Given the description of an element on the screen output the (x, y) to click on. 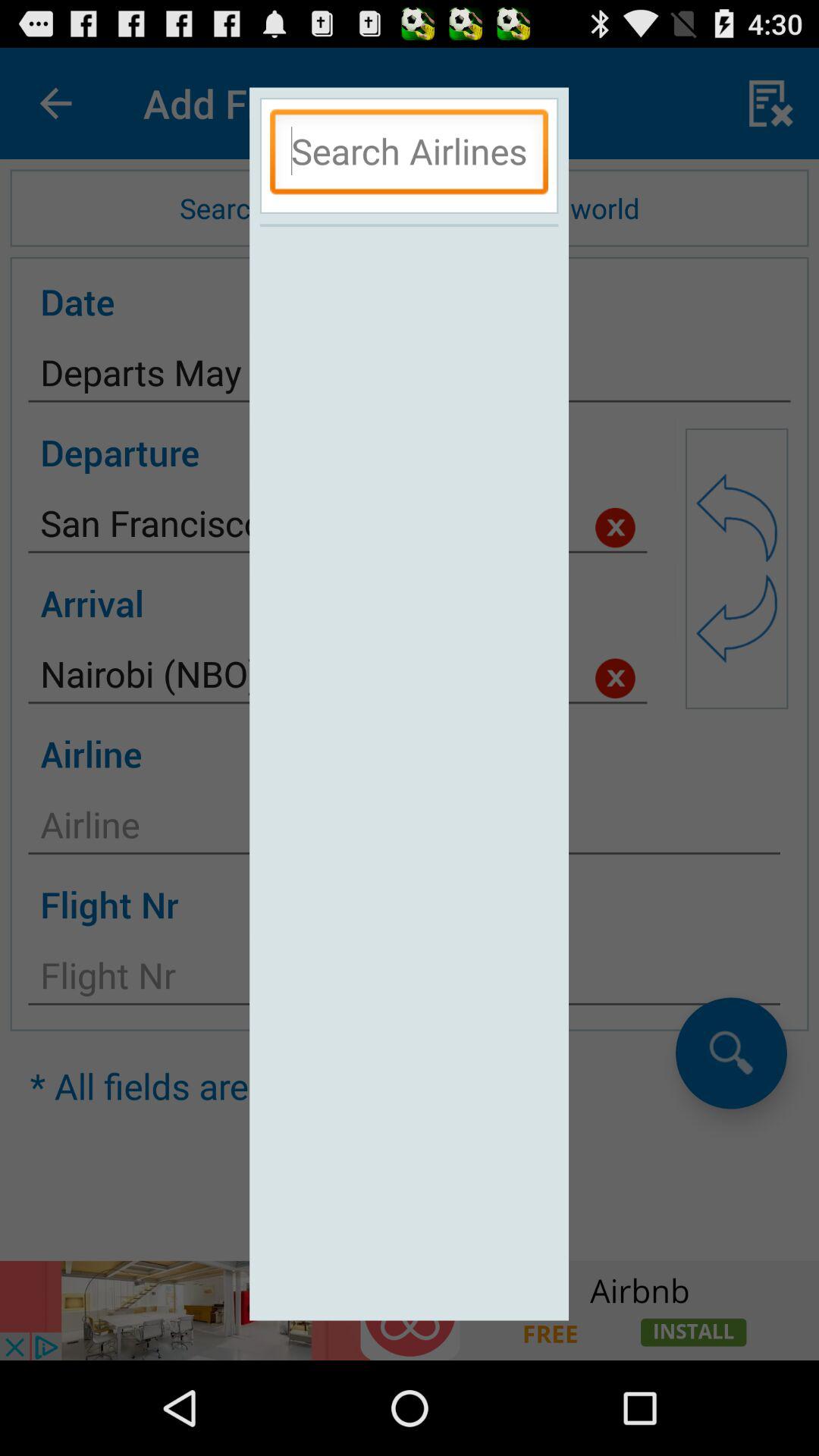
search button (409, 155)
